Given the description of an element on the screen output the (x, y) to click on. 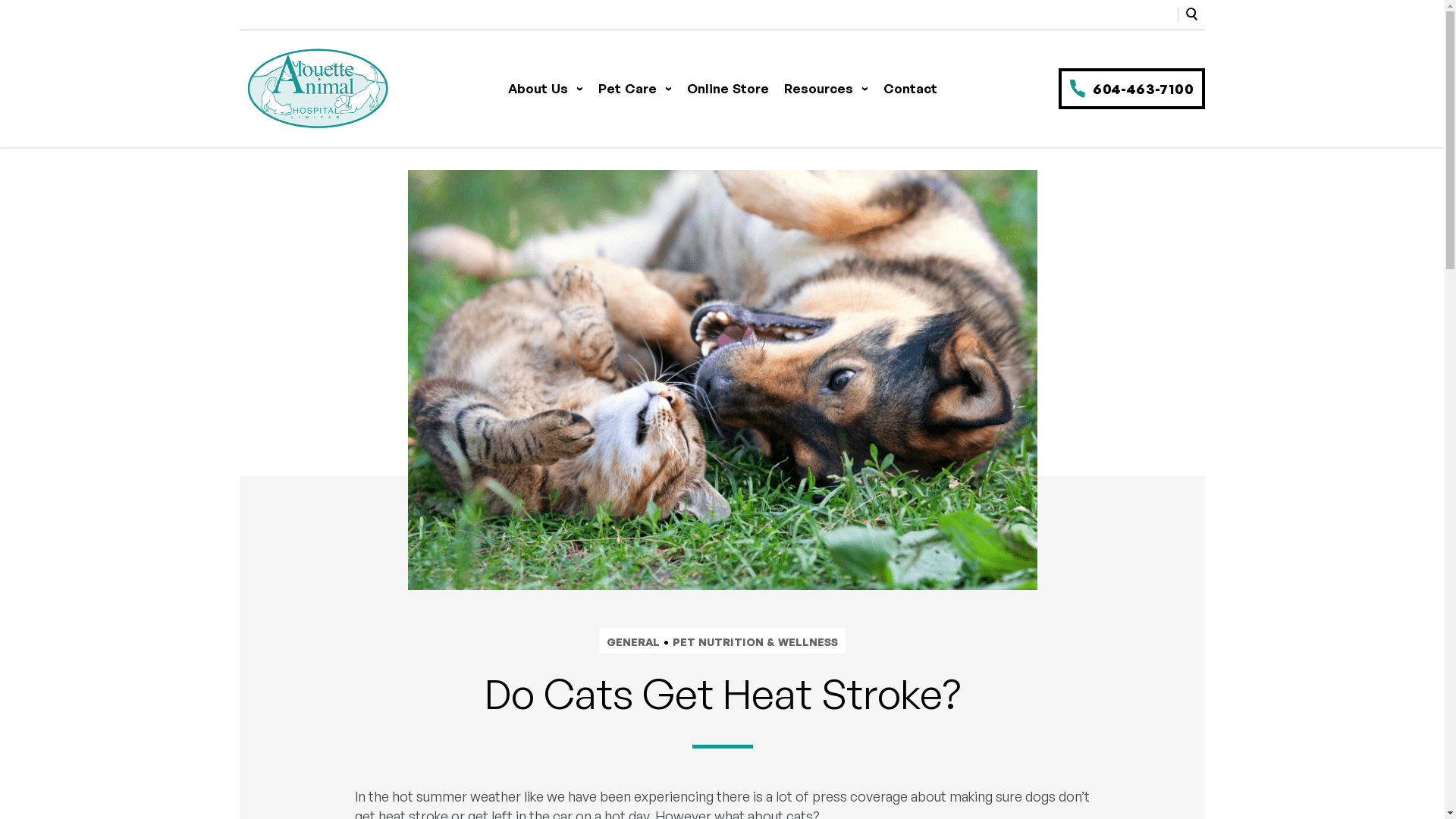
Contact Element type: text (909, 88)
Online Store Element type: text (727, 88)
About Us Element type: text (545, 88)
Resources Element type: text (826, 88)
604-463-7100 Element type: text (1131, 88)
PET NUTRITION & WELLNESS Element type: text (754, 641)
GENERAL Element type: text (632, 641)
Pet Care Element type: text (634, 88)
